Given the description of an element on the screen output the (x, y) to click on. 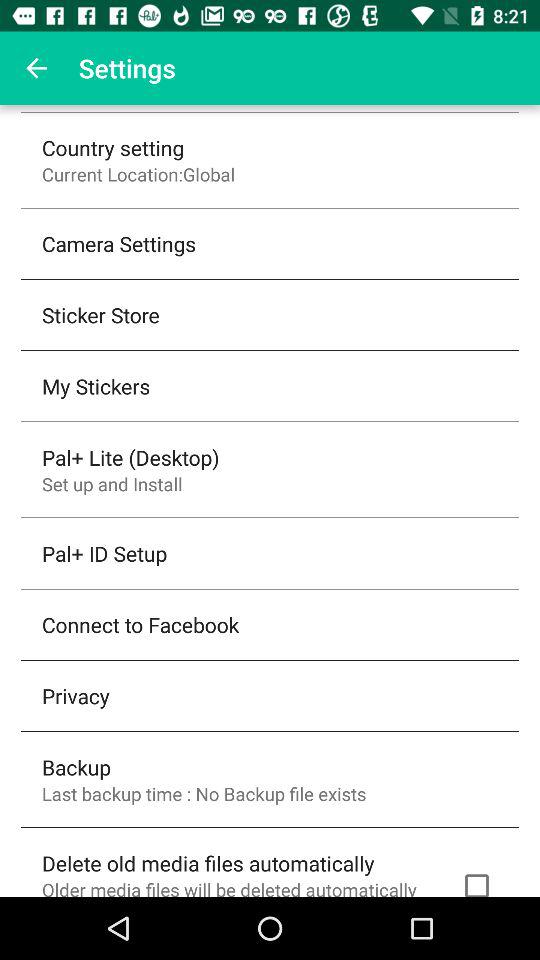
scroll until the country setting icon (113, 147)
